Given the description of an element on the screen output the (x, y) to click on. 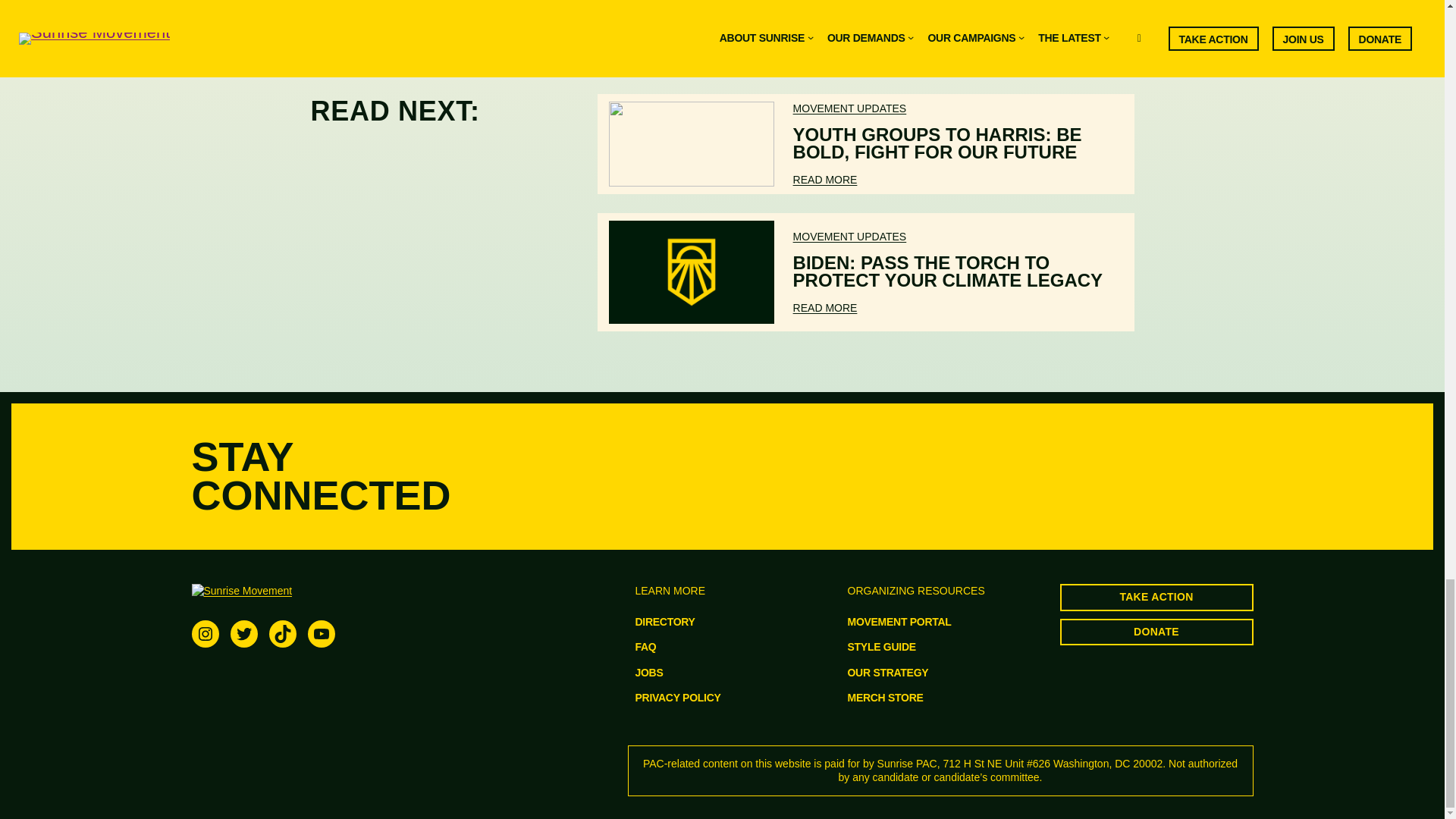
TIKTOK (281, 633)
INSTAGRAM (204, 633)
MOVEMENT UPDATES (850, 108)
TWITTER (243, 633)
MOVEMENT UPDATES (850, 236)
